Given the description of an element on the screen output the (x, y) to click on. 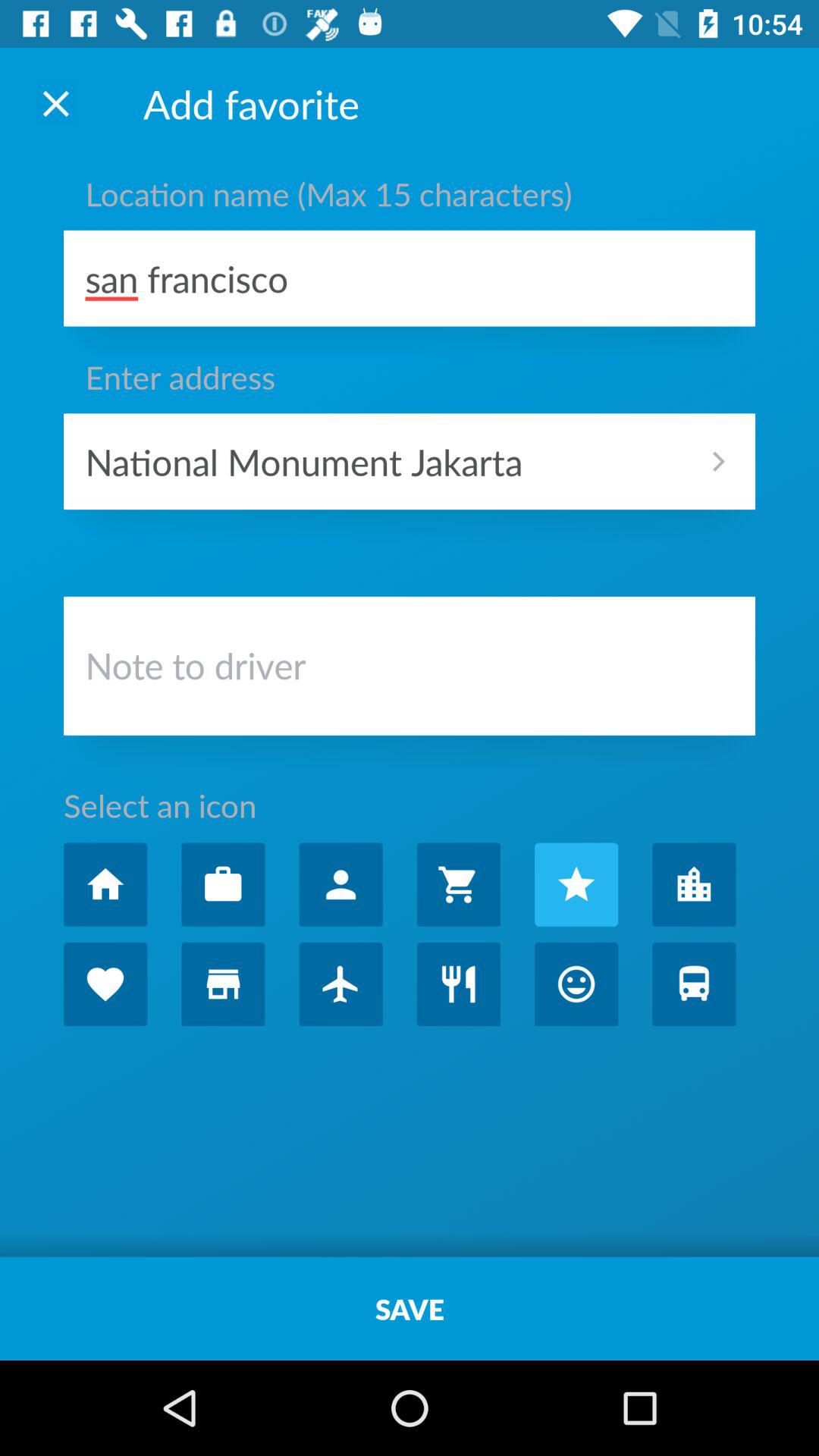
work (223, 884)
